Given the description of an element on the screen output the (x, y) to click on. 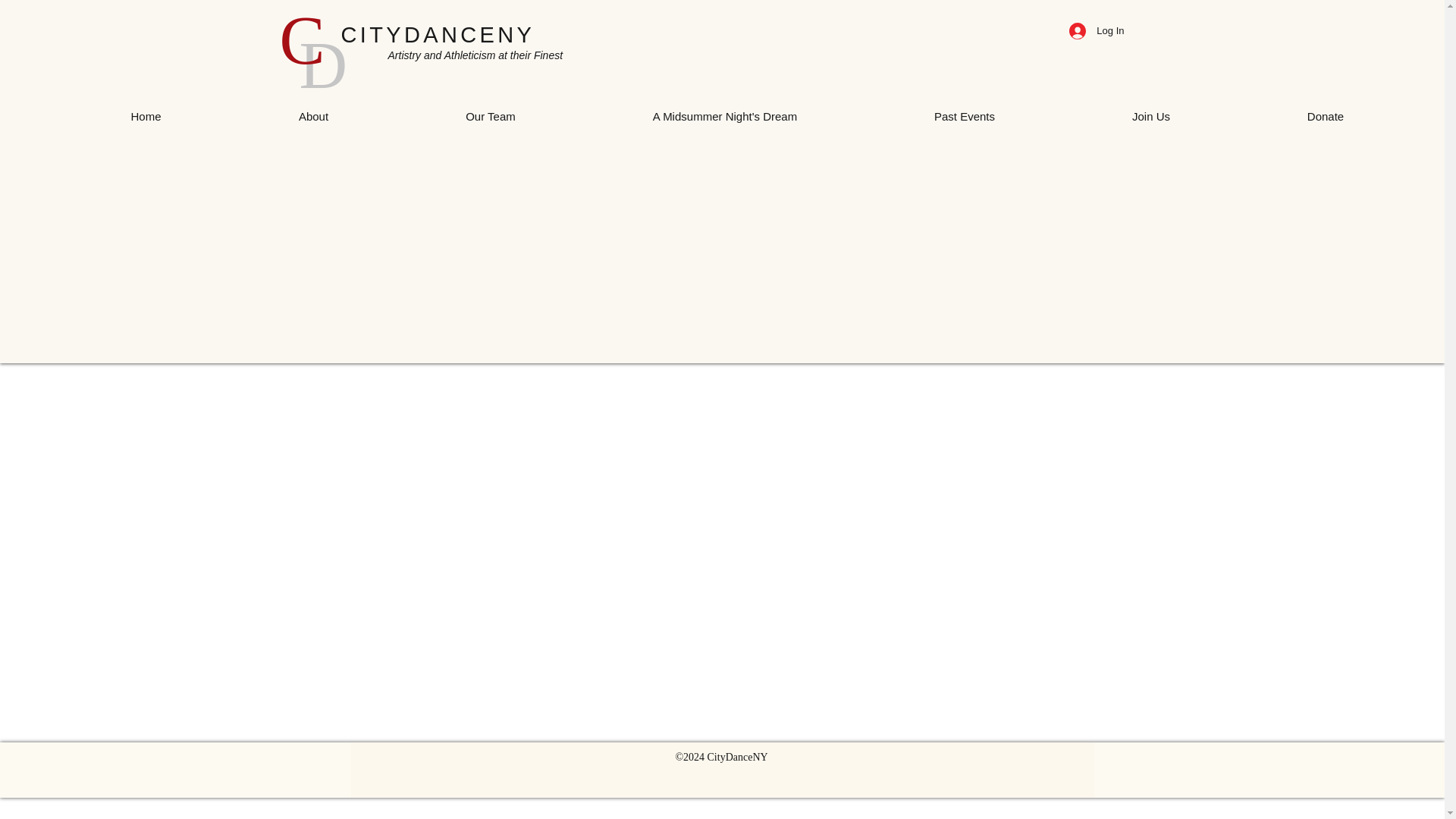
About (313, 110)
Join Us (1150, 110)
Donate (1325, 110)
Log In (1096, 30)
Our Team (491, 110)
A Midsummer Night's Dream (723, 110)
Past Events (965, 110)
Home (146, 110)
